Given the description of an element on the screen output the (x, y) to click on. 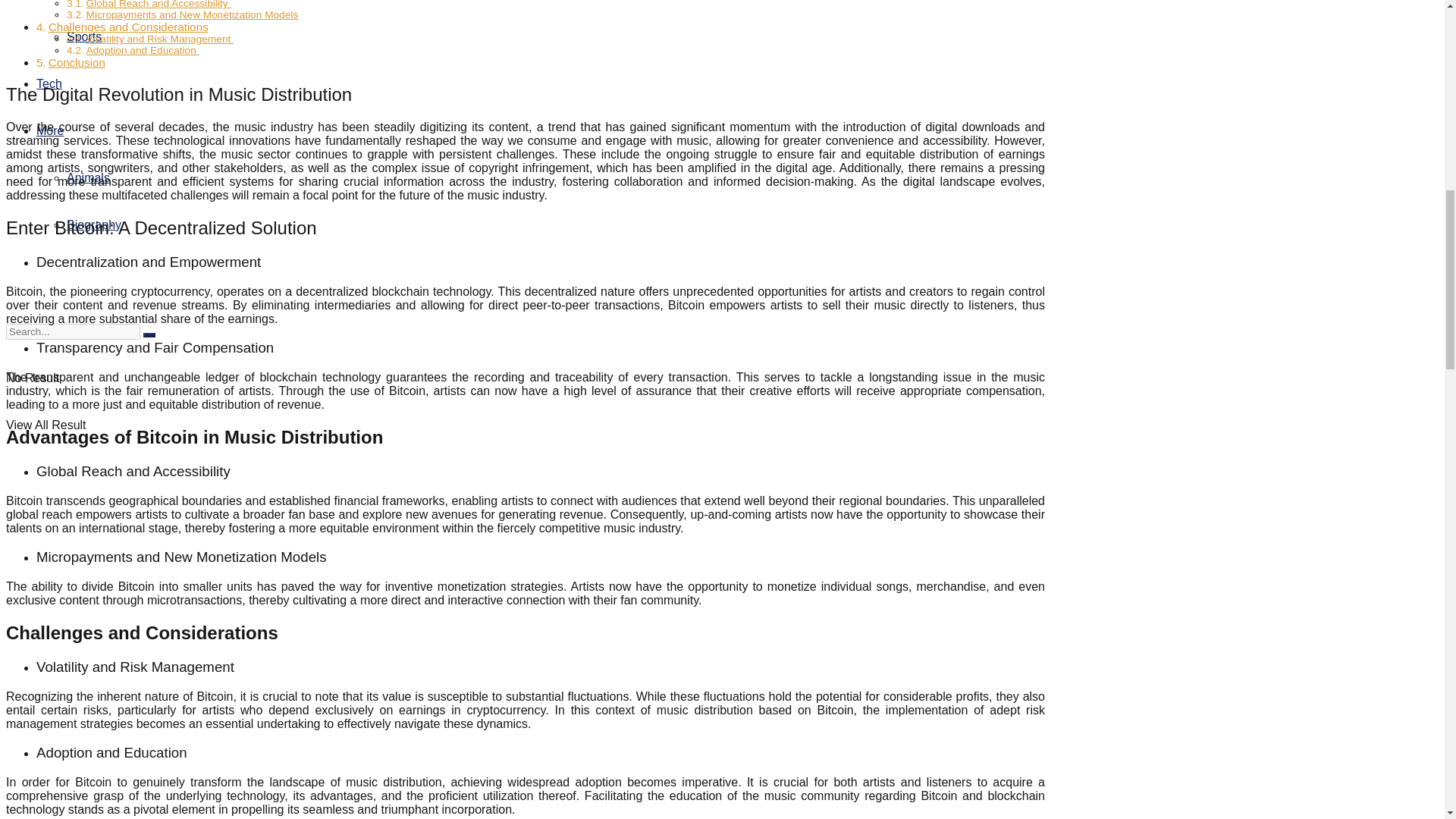
Tech (49, 83)
Animals (88, 177)
Conclusion (76, 62)
Micropayments and New Monetization Models (191, 14)
Sports (83, 36)
Biography (93, 224)
Challenges and Considerations (128, 26)
More (50, 130)
